Given the description of an element on the screen output the (x, y) to click on. 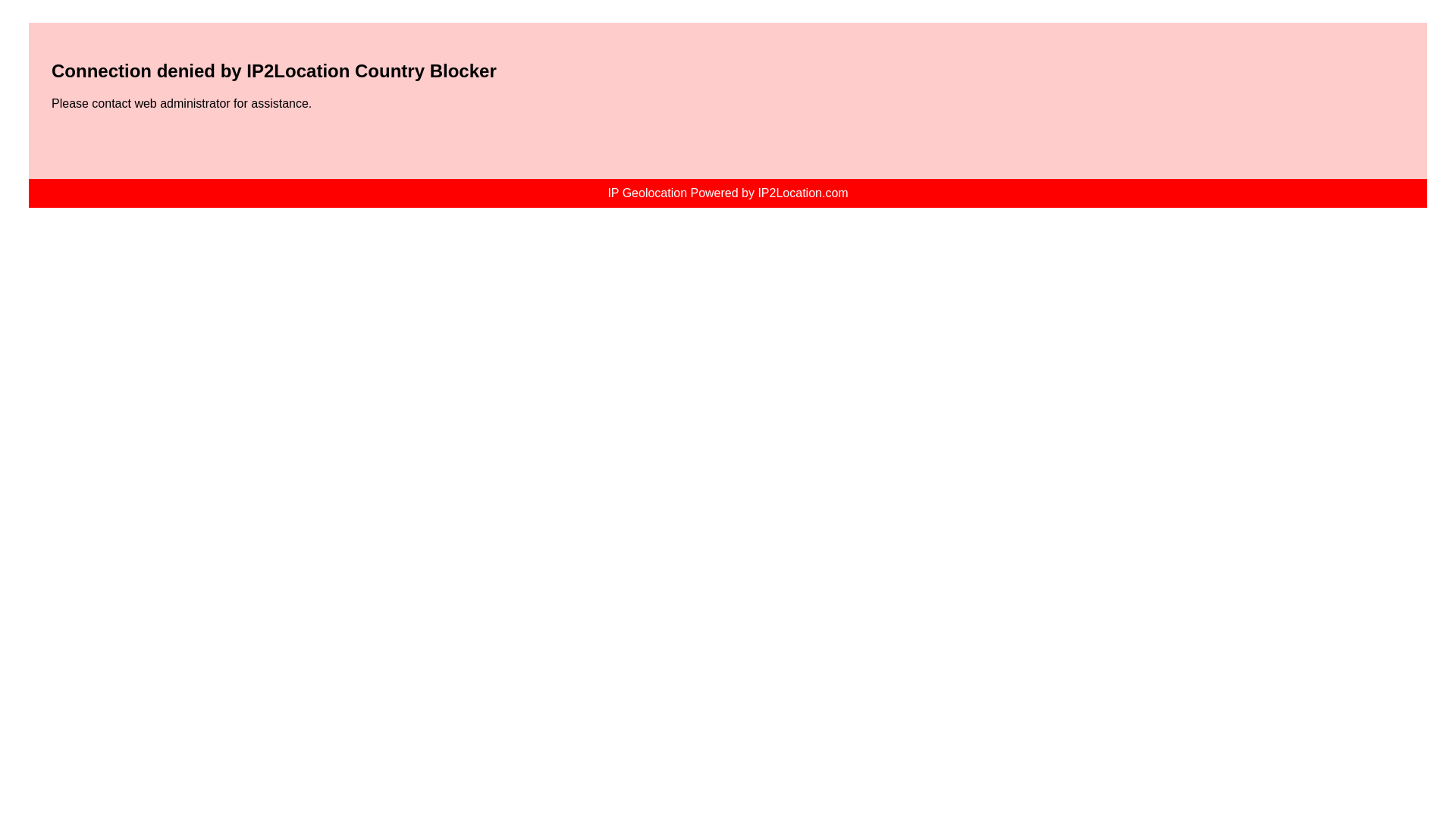
IP Geolocation Powered by IP2Location.com Element type: text (727, 192)
